Given the description of an element on the screen output the (x, y) to click on. 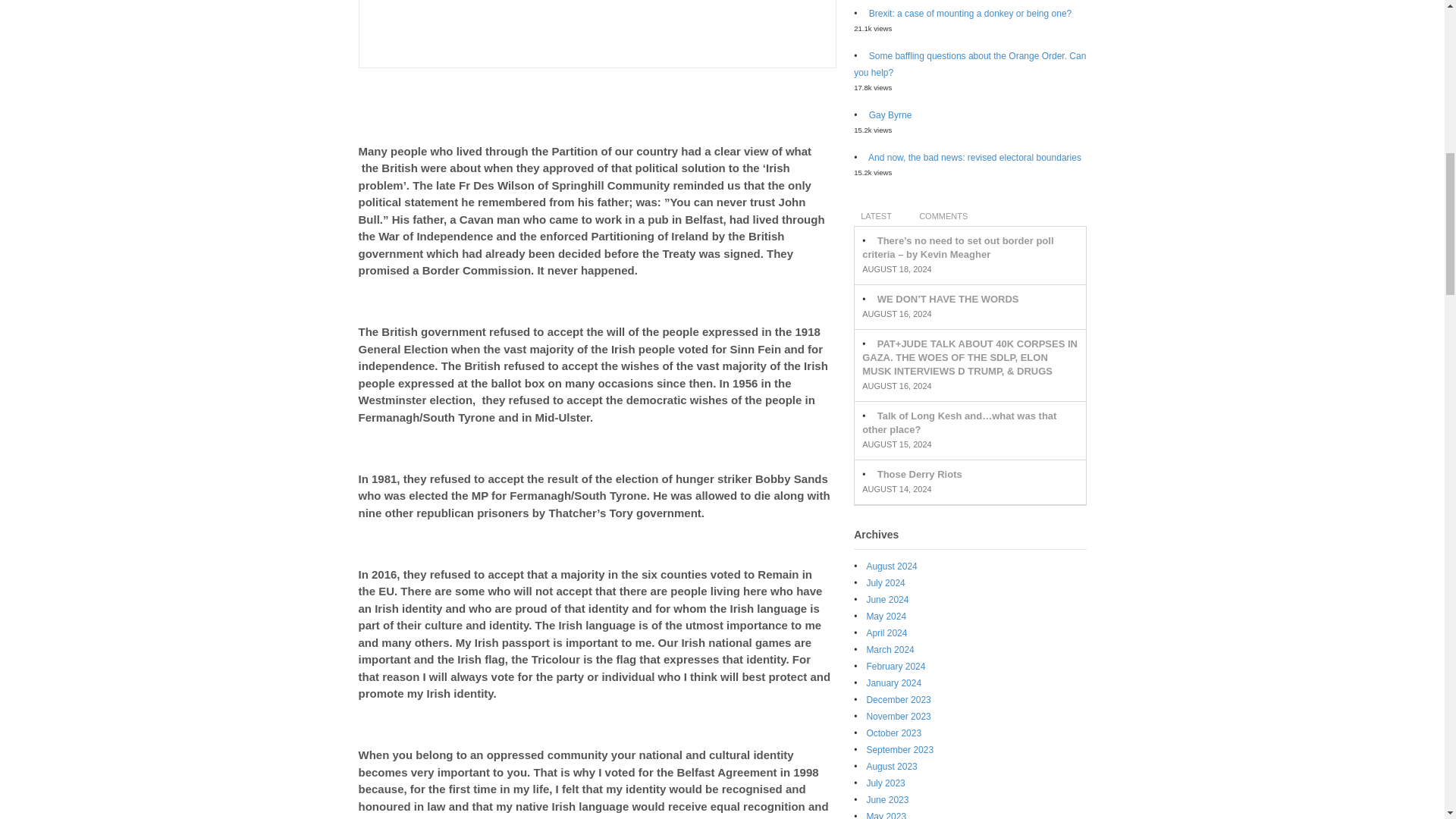
LATEST (875, 214)
Those Derry Riots (919, 473)
Gay Byrne (890, 114)
Those Derry Riots (919, 473)
Brexit: a case of mounting a donkey or being one? (970, 13)
COMMENTS (943, 214)
And now, the bad news: revised electoral boundaries (974, 157)
